Given the description of an element on the screen output the (x, y) to click on. 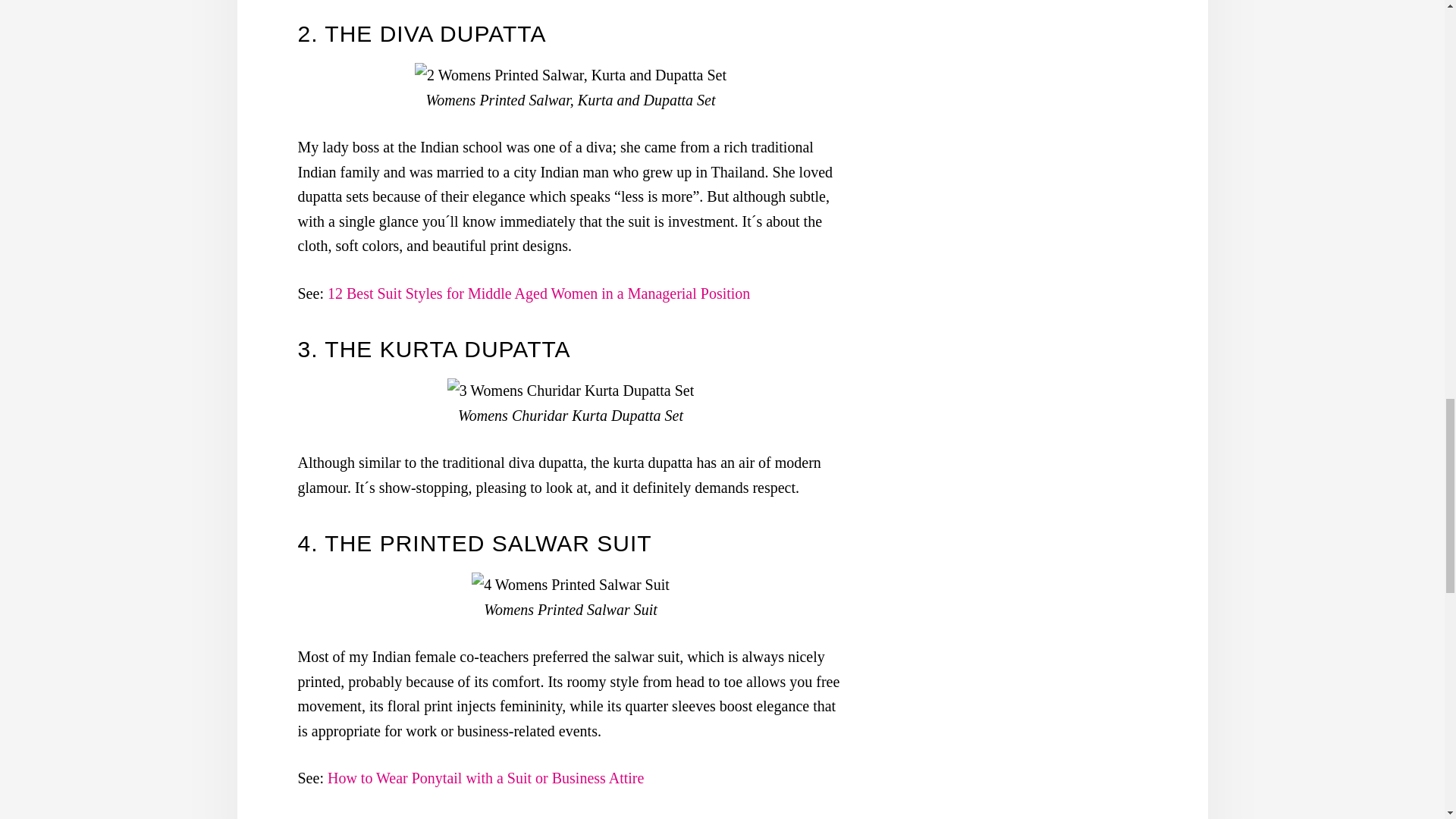
How to Wear Ponytail with a Suit or Business Attire (485, 777)
